Given the description of an element on the screen output the (x, y) to click on. 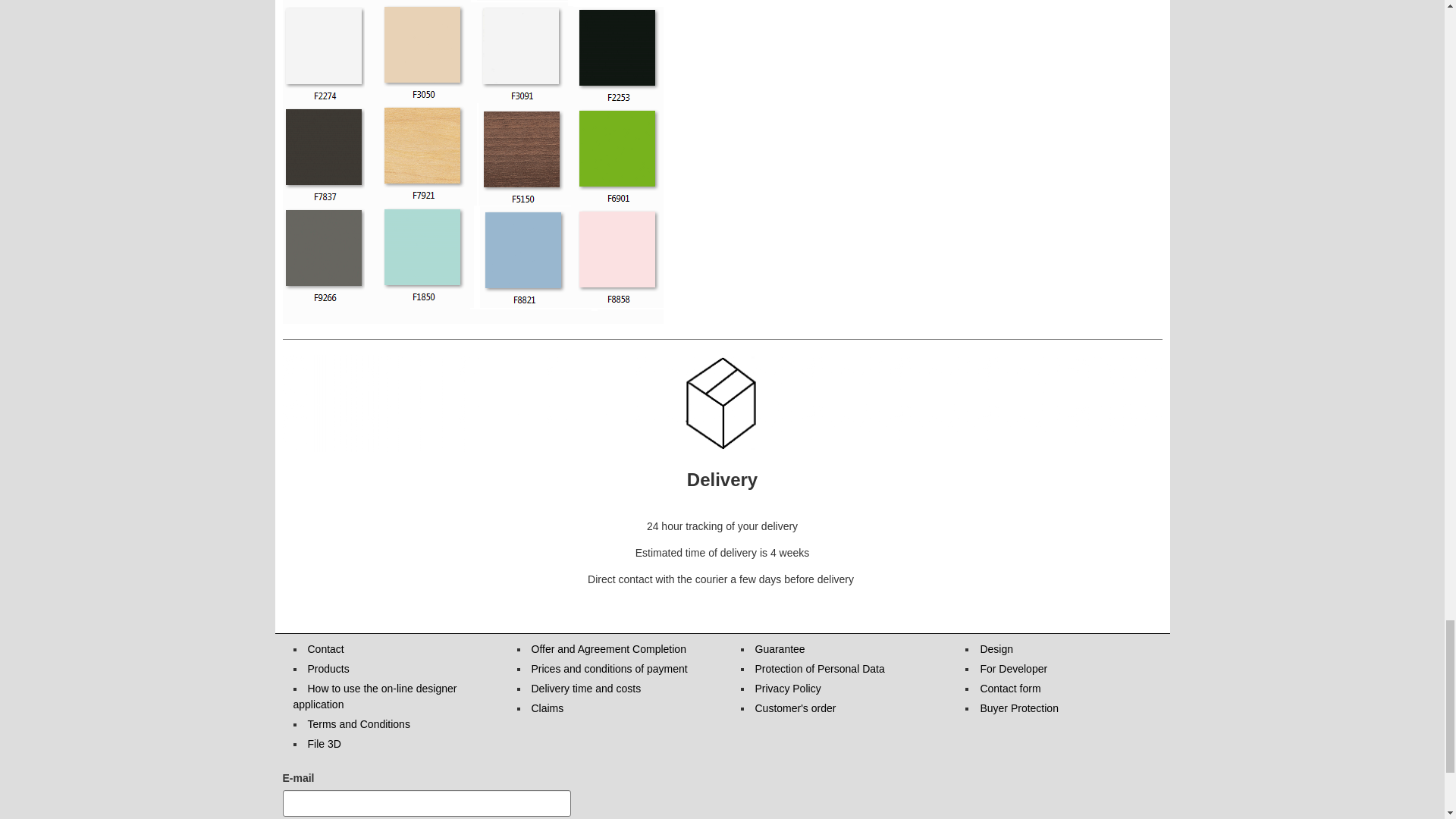
File 3D (323, 743)
Terms and Conditions (358, 724)
Contact (325, 648)
Offer and Agreement Completion (608, 648)
Products (328, 668)
How to use the on-line designer application (374, 696)
